Given the description of an element on the screen output the (x, y) to click on. 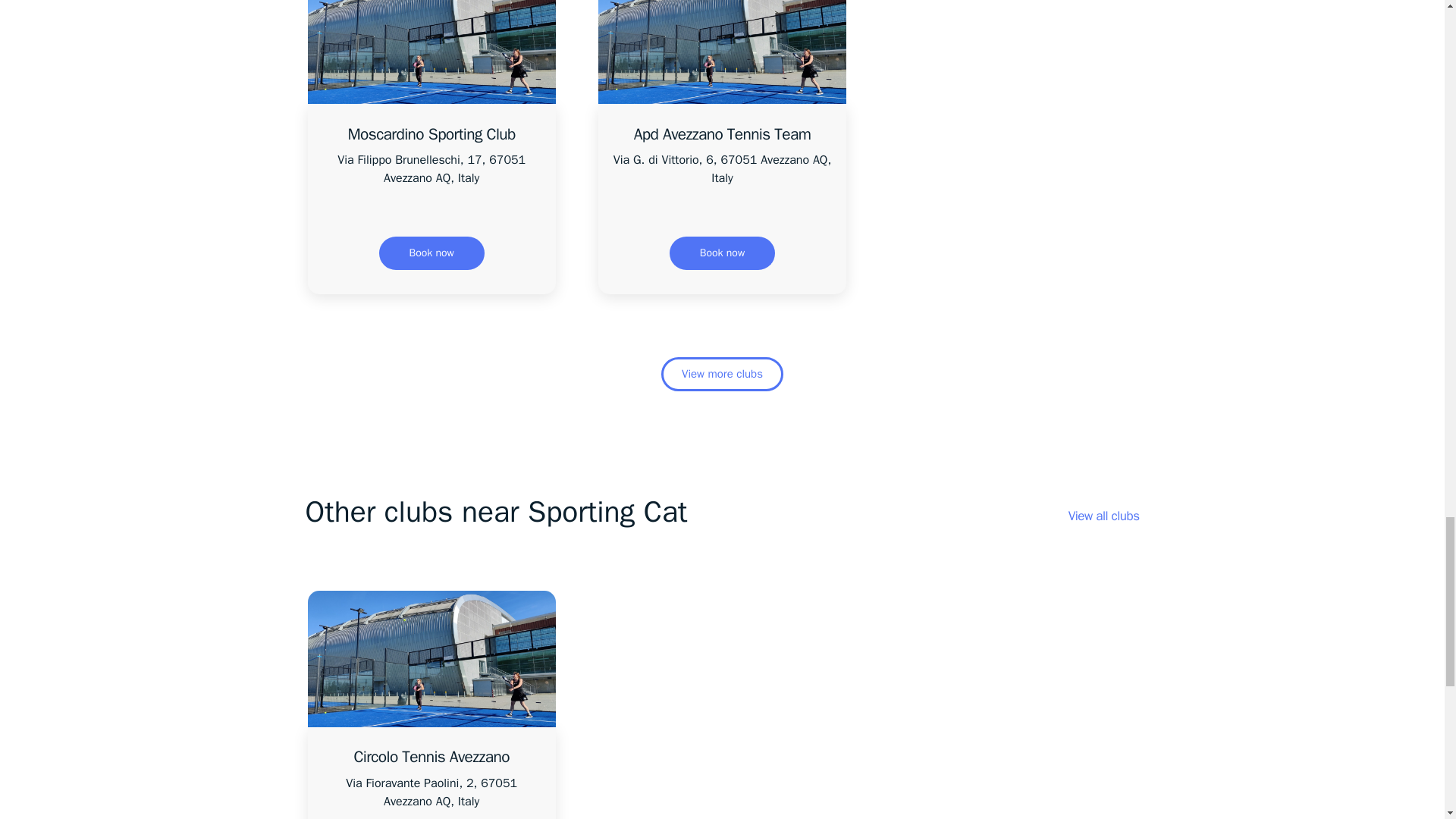
Book now (721, 253)
View all clubs (1104, 515)
Book now (431, 253)
View more clubs (722, 374)
